Given the description of an element on the screen output the (x, y) to click on. 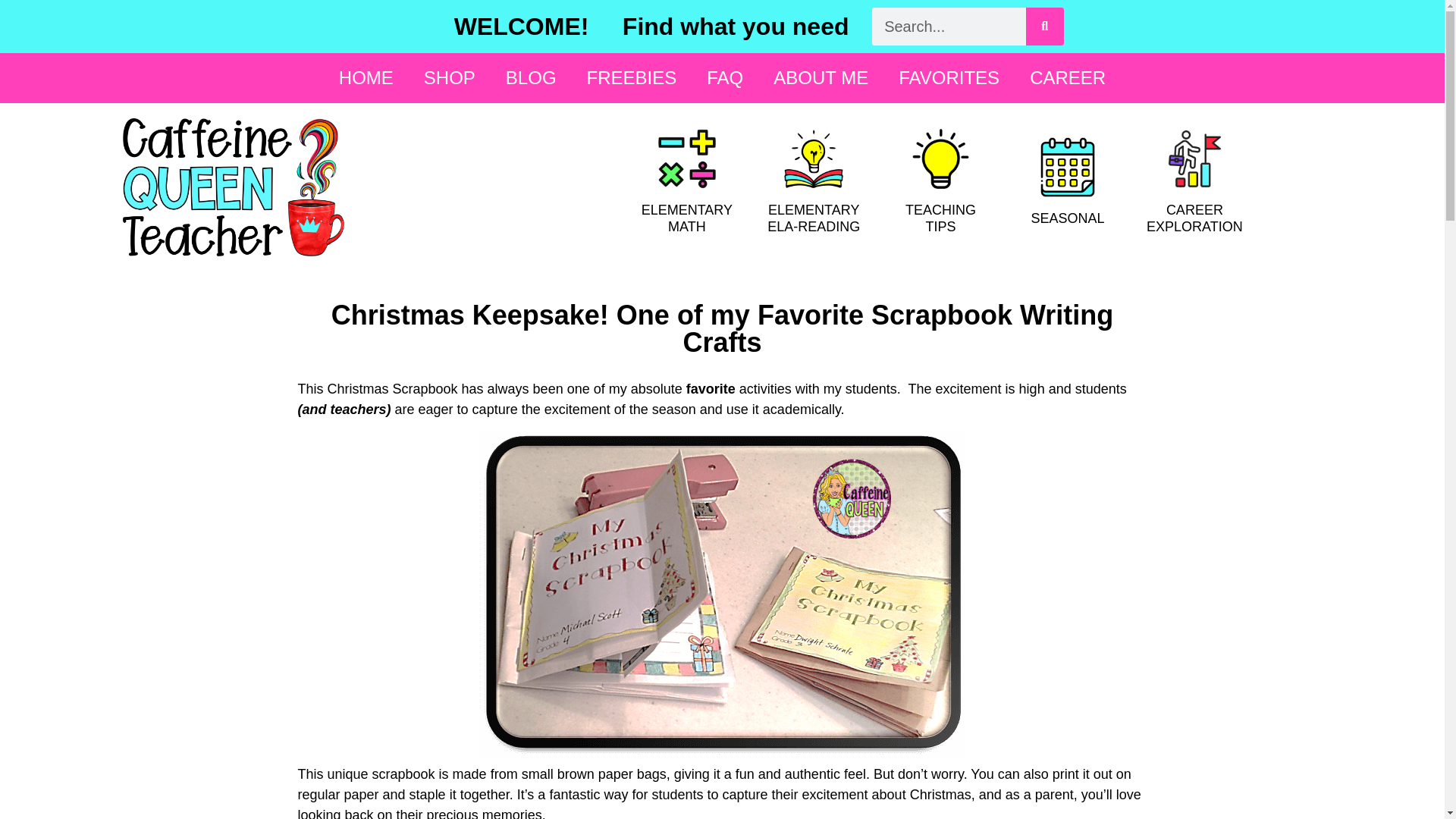
FREEBIES (632, 77)
ABOUT ME (821, 77)
SHOP (449, 77)
CAREER (1067, 77)
BLOG (531, 77)
FAQ (724, 77)
FAVORITES (949, 77)
HOME (365, 77)
